Given the description of an element on the screen output the (x, y) to click on. 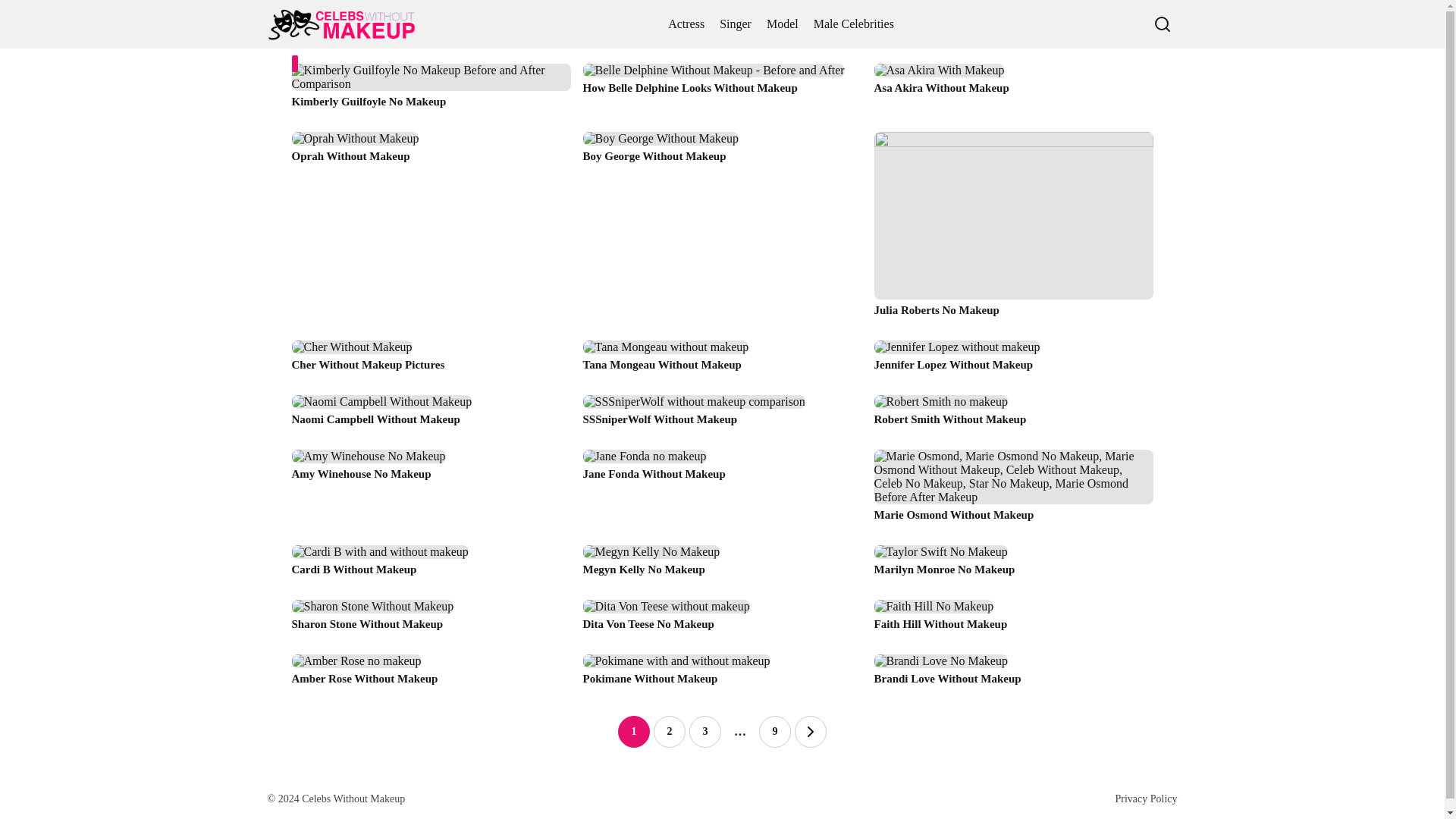
Sharon Stone Without Makeup (430, 620)
Dita Von Teese No Makeup (721, 620)
Julia Roberts No Makeup (1013, 229)
Male Celebrities (853, 24)
How Belle Delphine Looks Without Makeup (721, 91)
Amy Winehouse No Makeup (430, 491)
2 (669, 731)
Jane Fonda Without Makeup (721, 491)
Boy George Without Makeup (721, 229)
Marilyn Monroe No Makeup (1013, 566)
3 (704, 731)
Marie Osmond Without Makeup (1013, 491)
Actress (686, 24)
Brandi Love Without Makeup (1013, 675)
Kimberly Guilfoyle No Makeup (430, 91)
